Given the description of an element on the screen output the (x, y) to click on. 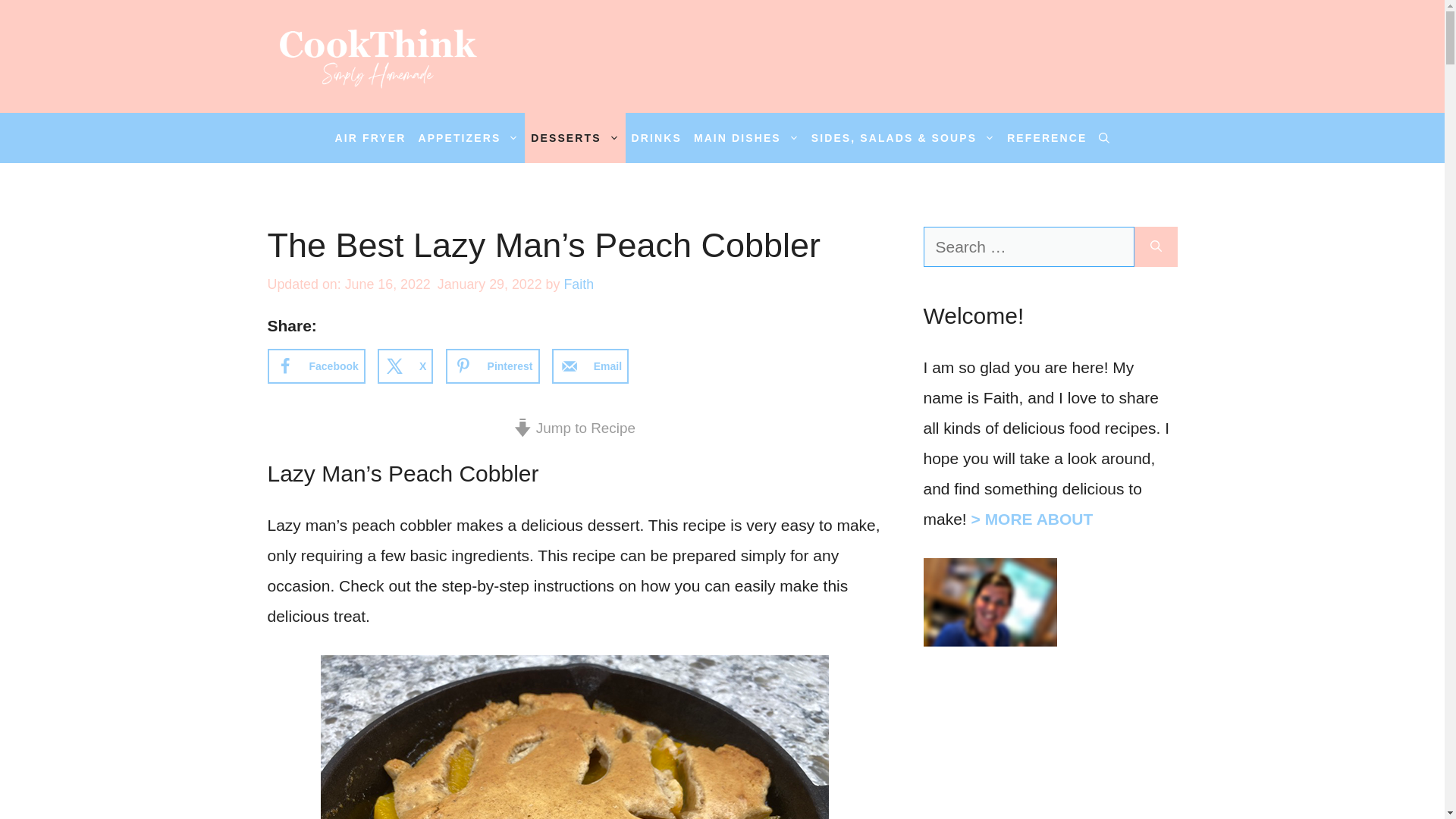
View all posts by Faith (578, 283)
APPETIZERS (468, 137)
REFERENCE (1047, 137)
Send over email (589, 366)
DRINKS (656, 137)
MAIN DISHES (746, 137)
X (404, 366)
Save to Pinterest (492, 366)
Share on X (404, 366)
Faith (578, 283)
